Given the description of an element on the screen output the (x, y) to click on. 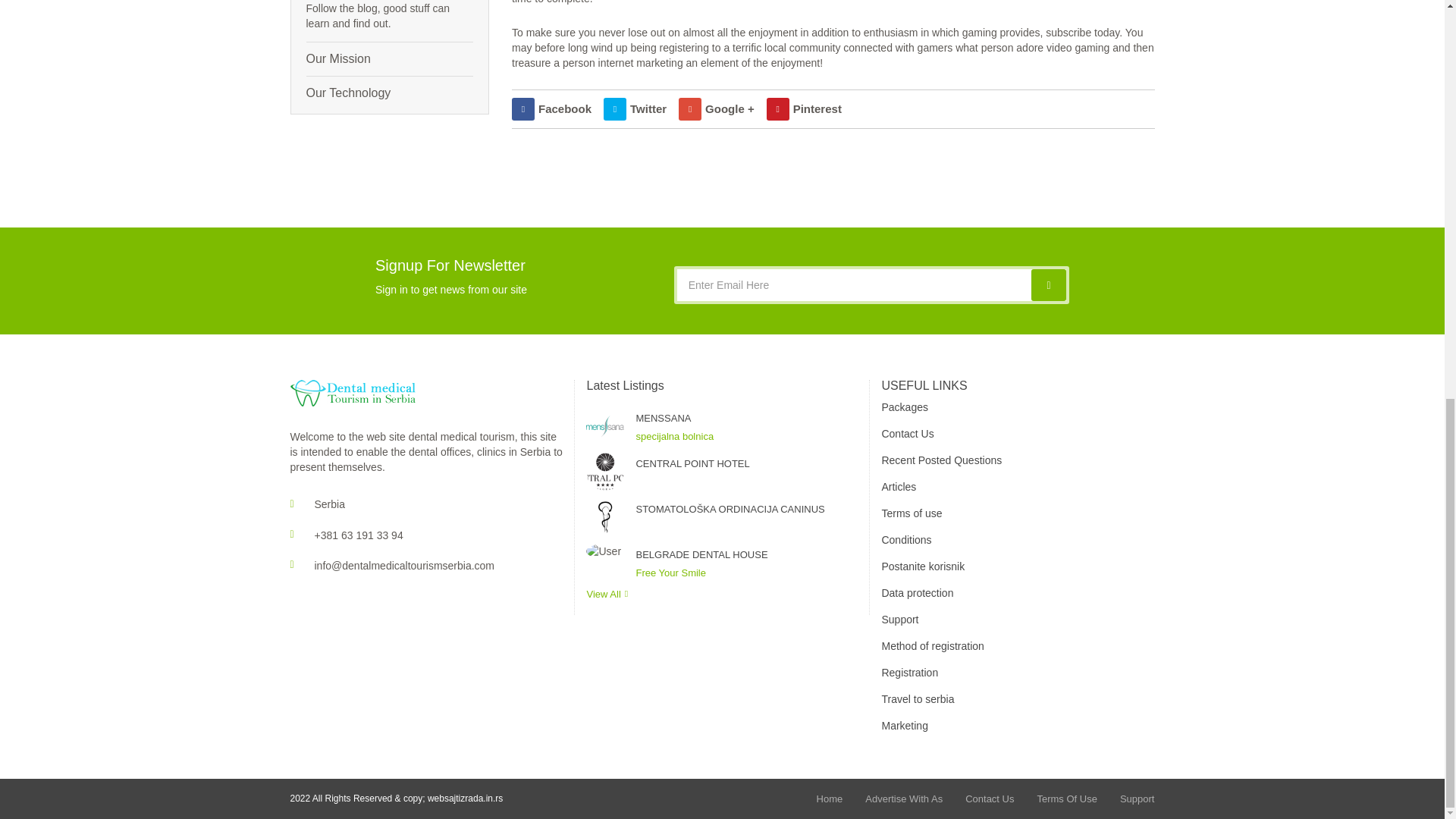
Pinterest (804, 108)
Facebook (551, 108)
Our Technology (389, 92)
MENSSANA (745, 418)
Our Mission (389, 59)
Twitter (635, 108)
